Given the description of an element on the screen output the (x, y) to click on. 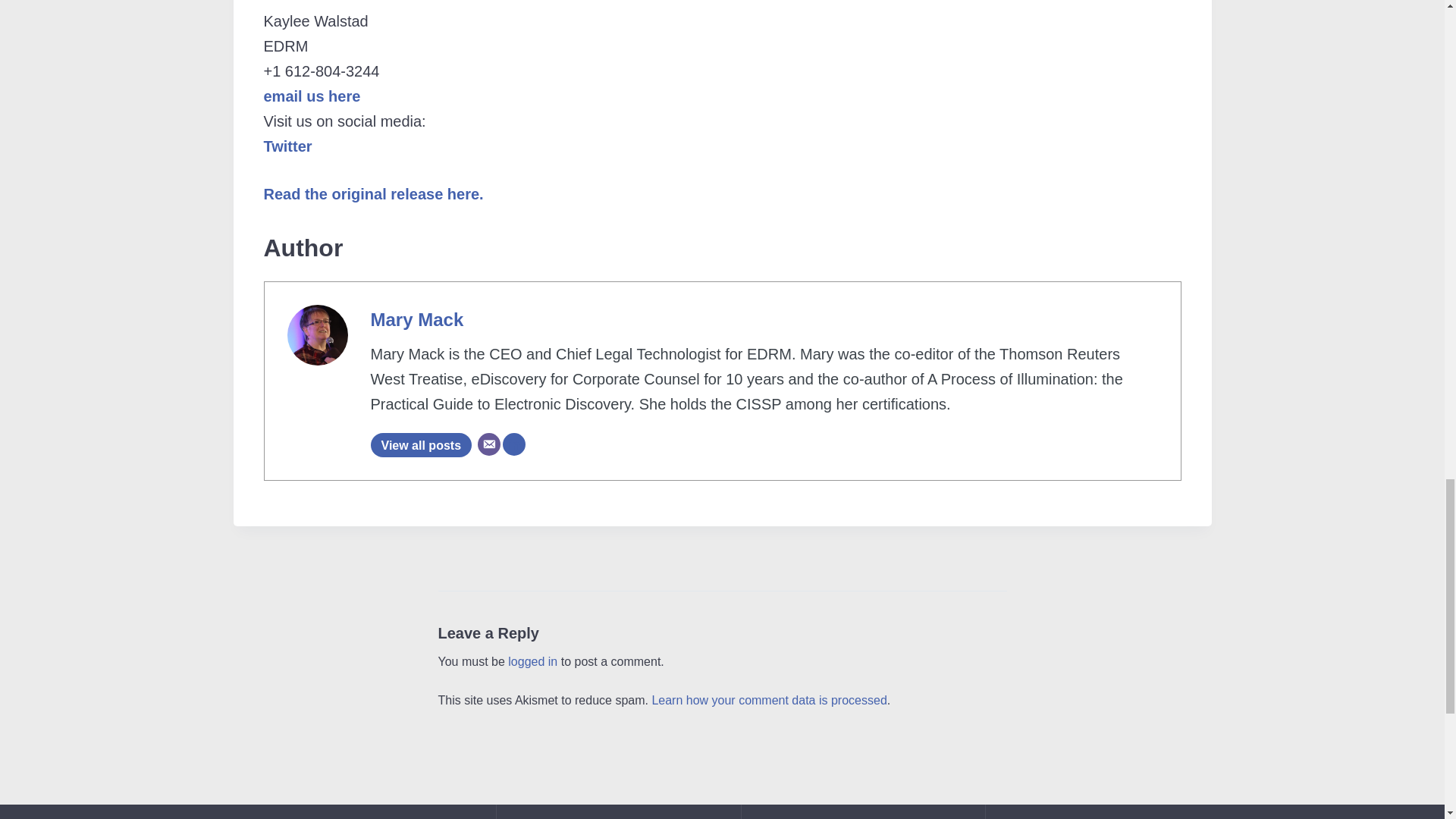
Mary Mack (416, 319)
View all posts (420, 445)
